Given the description of an element on the screen output the (x, y) to click on. 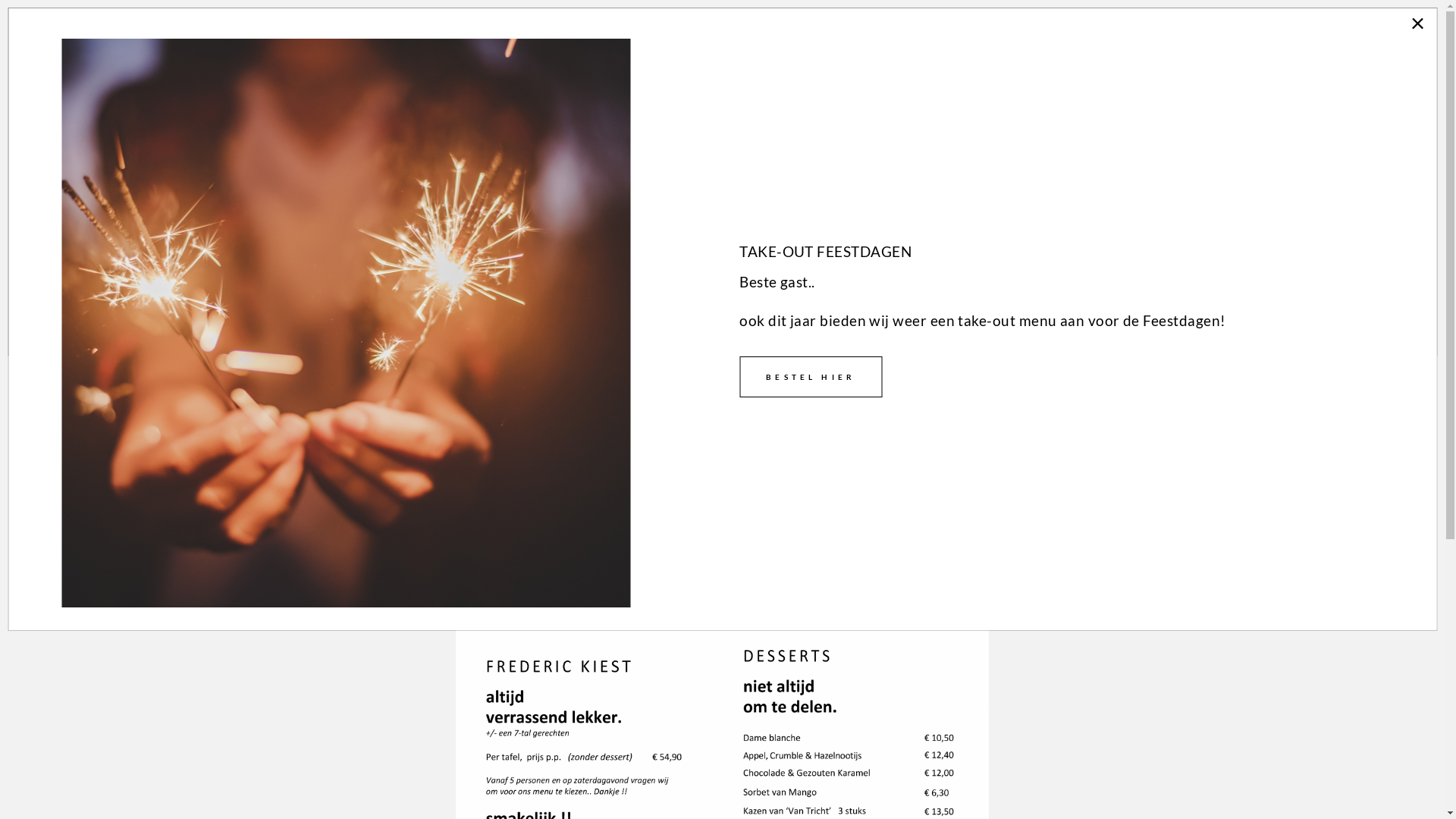
BESTEL HIER Element type: text (810, 376)
CADEAUBONNEN Element type: text (1356, 35)
FEESTDAGEN TAKE-AWAY Element type: text (1175, 35)
HOME Element type: text (959, 35)
-nr12 by Helsen- Element type: text (373, 231)
MENU Element type: text (1032, 35)
